Given the description of an element on the screen output the (x, y) to click on. 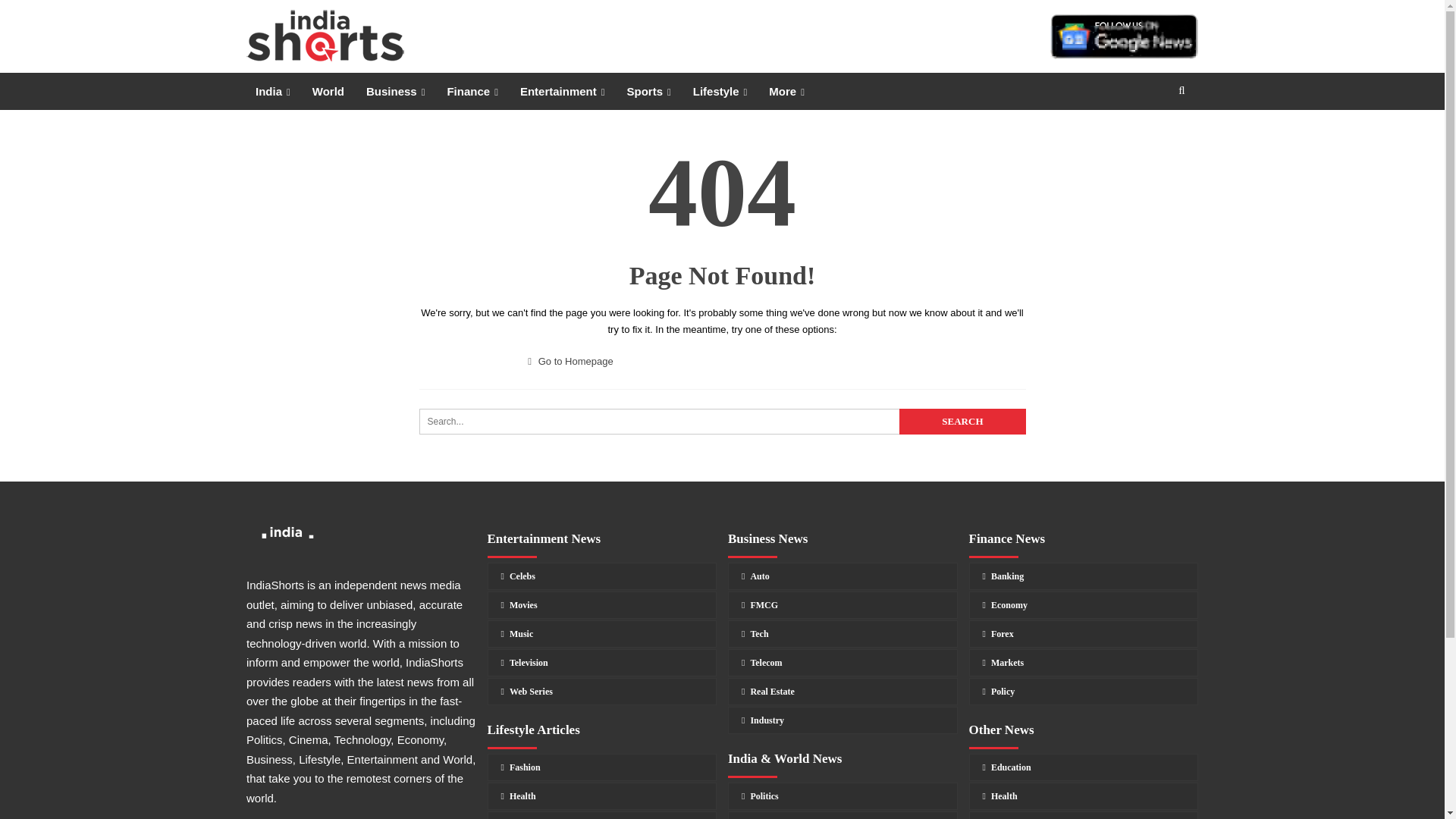
Search for: (722, 421)
World (327, 91)
Lifestyle (720, 91)
Entertainment (562, 91)
Finance (472, 91)
Business (394, 91)
India (272, 91)
Sports (648, 91)
Search (962, 421)
More (786, 91)
